Given the description of an element on the screen output the (x, y) to click on. 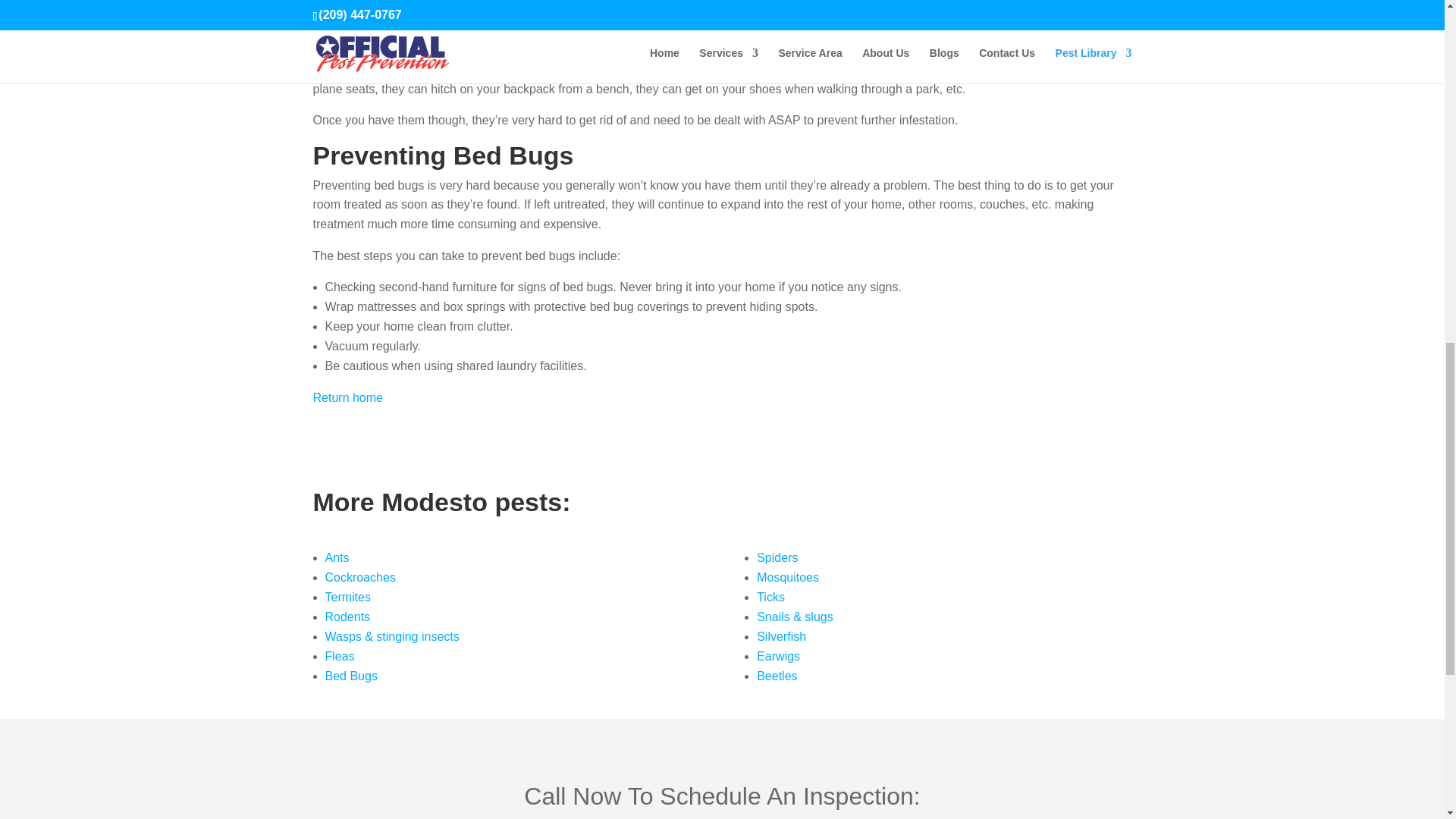
Return home (347, 397)
Cockroaches (359, 576)
Spiders (777, 557)
Termites (346, 596)
Mosquitoes (787, 576)
Fleas (338, 656)
Rodents (346, 616)
Ants (336, 557)
Bed Bugs (350, 675)
